Given the description of an element on the screen output the (x, y) to click on. 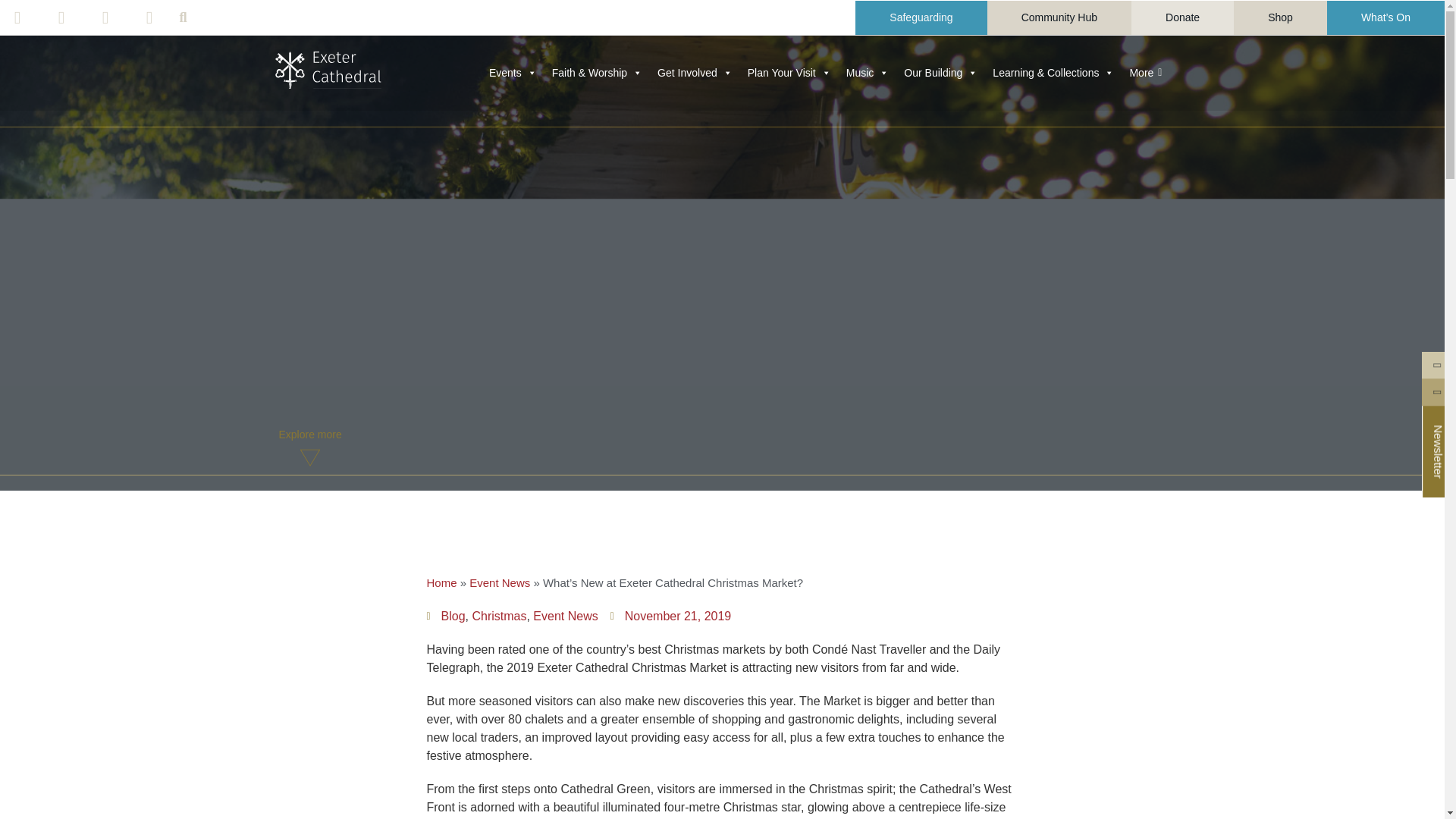
Get Involved (694, 72)
Donate (1182, 17)
Events (512, 72)
Community Hub (1059, 17)
Safeguarding (921, 17)
Shop (1279, 17)
